Given the description of an element on the screen output the (x, y) to click on. 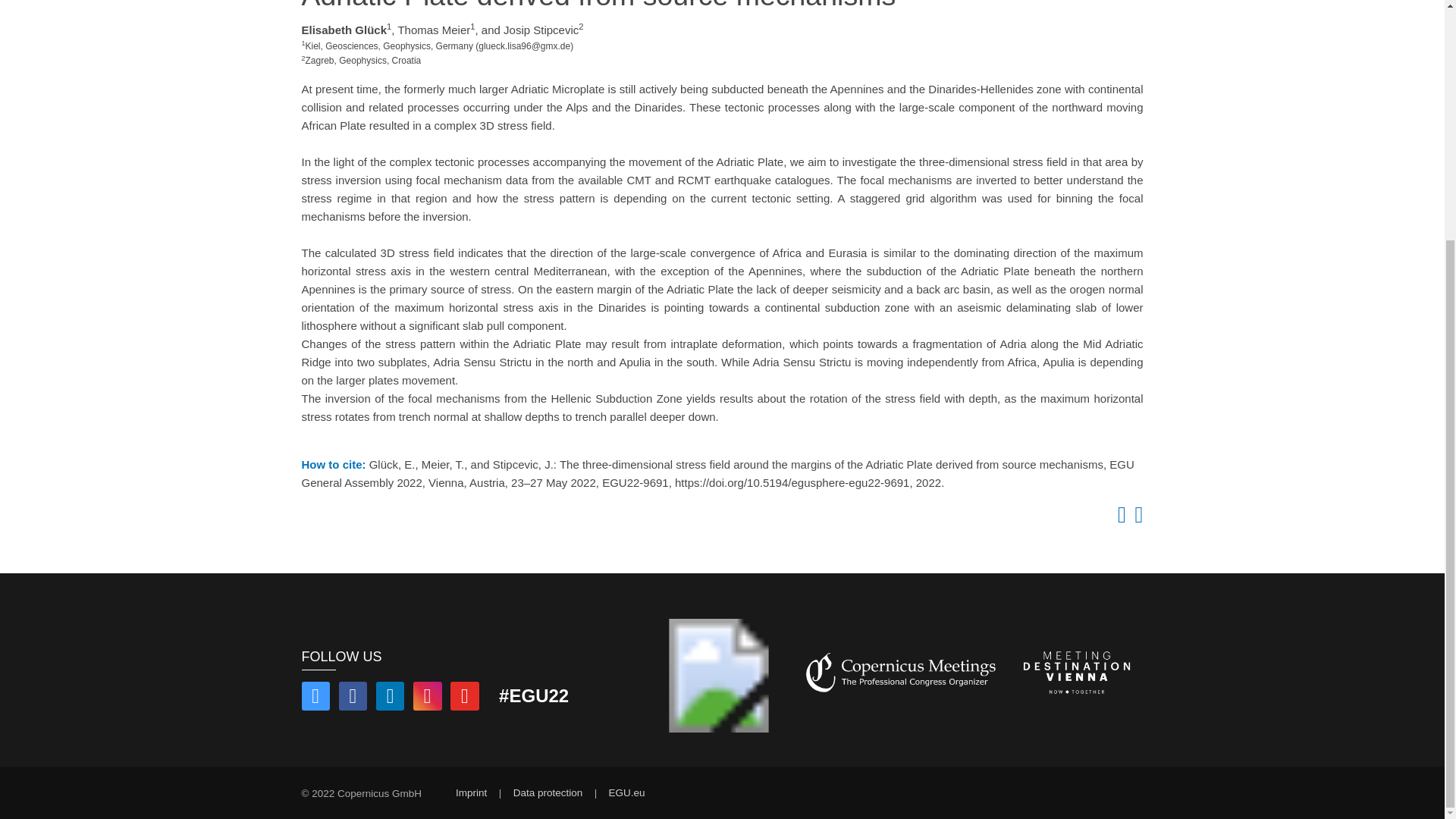
Find us on Instagram (427, 698)
Copy to clipboard (1118, 517)
Find us on YouTube (464, 698)
Follow us on Facebook (353, 698)
Follow us on Twitter (315, 698)
Open QR code linking to abstract URL (1135, 517)
Find us on LinkedIn (389, 698)
